Given the description of an element on the screen output the (x, y) to click on. 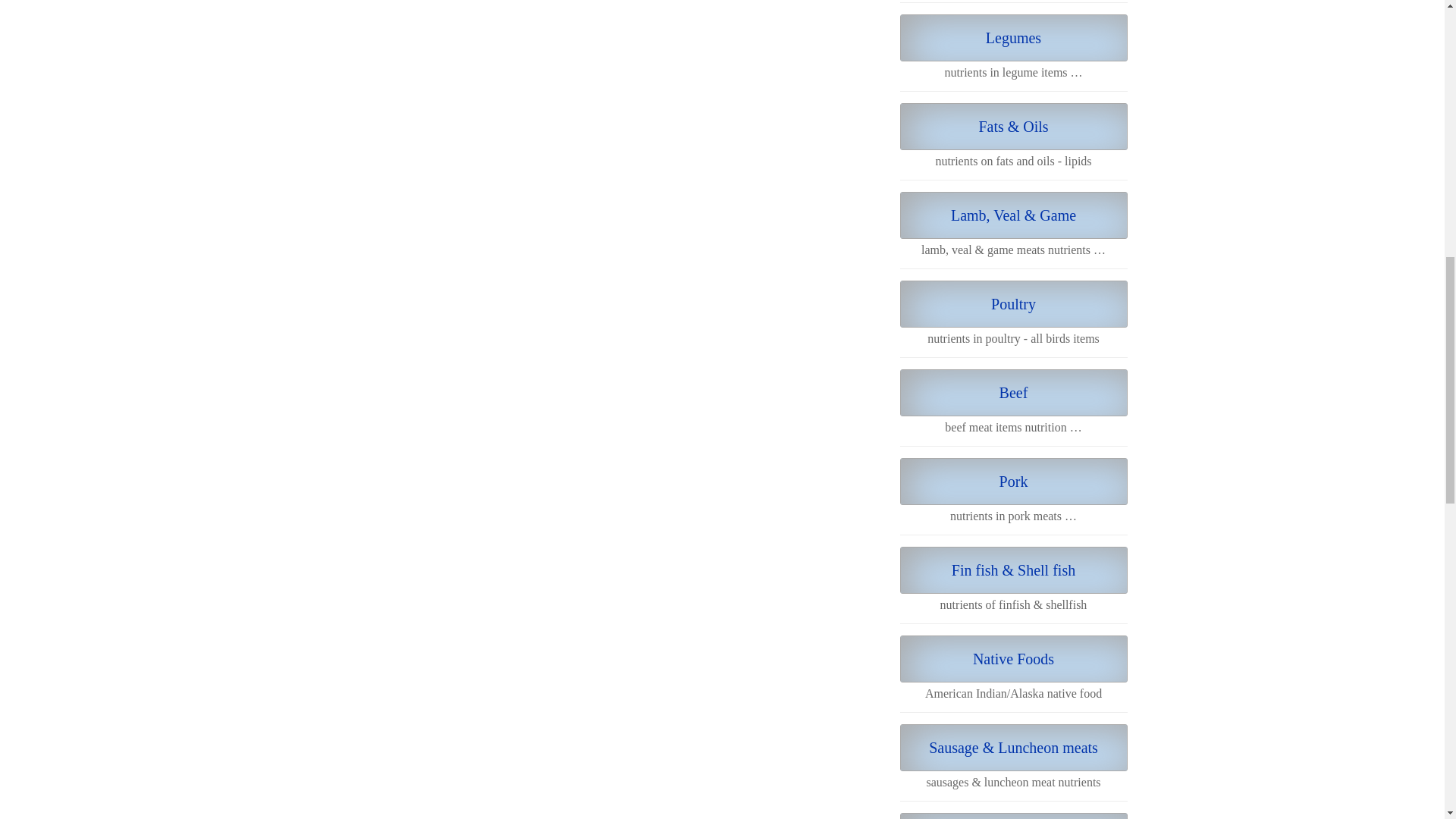
Legumes (1012, 37)
Poultry (1012, 303)
Pork (1012, 481)
Native Foods (1012, 658)
Beef (1012, 392)
